Given the description of an element on the screen output the (x, y) to click on. 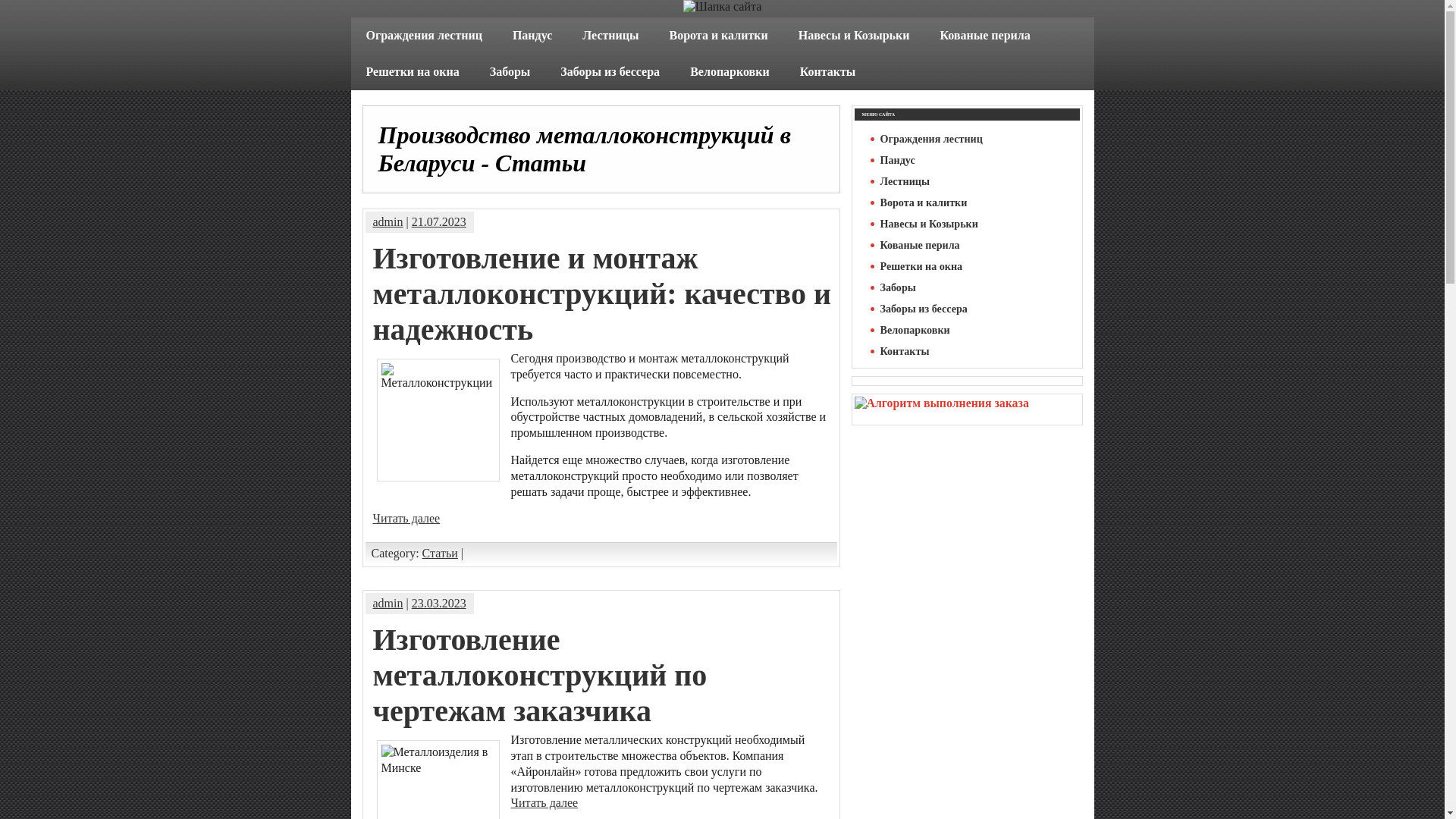
admin Element type: text (388, 602)
21.07.2023 Element type: text (438, 221)
admin Element type: text (388, 221)
23.03.2023 Element type: text (438, 602)
